Given the description of an element on the screen output the (x, y) to click on. 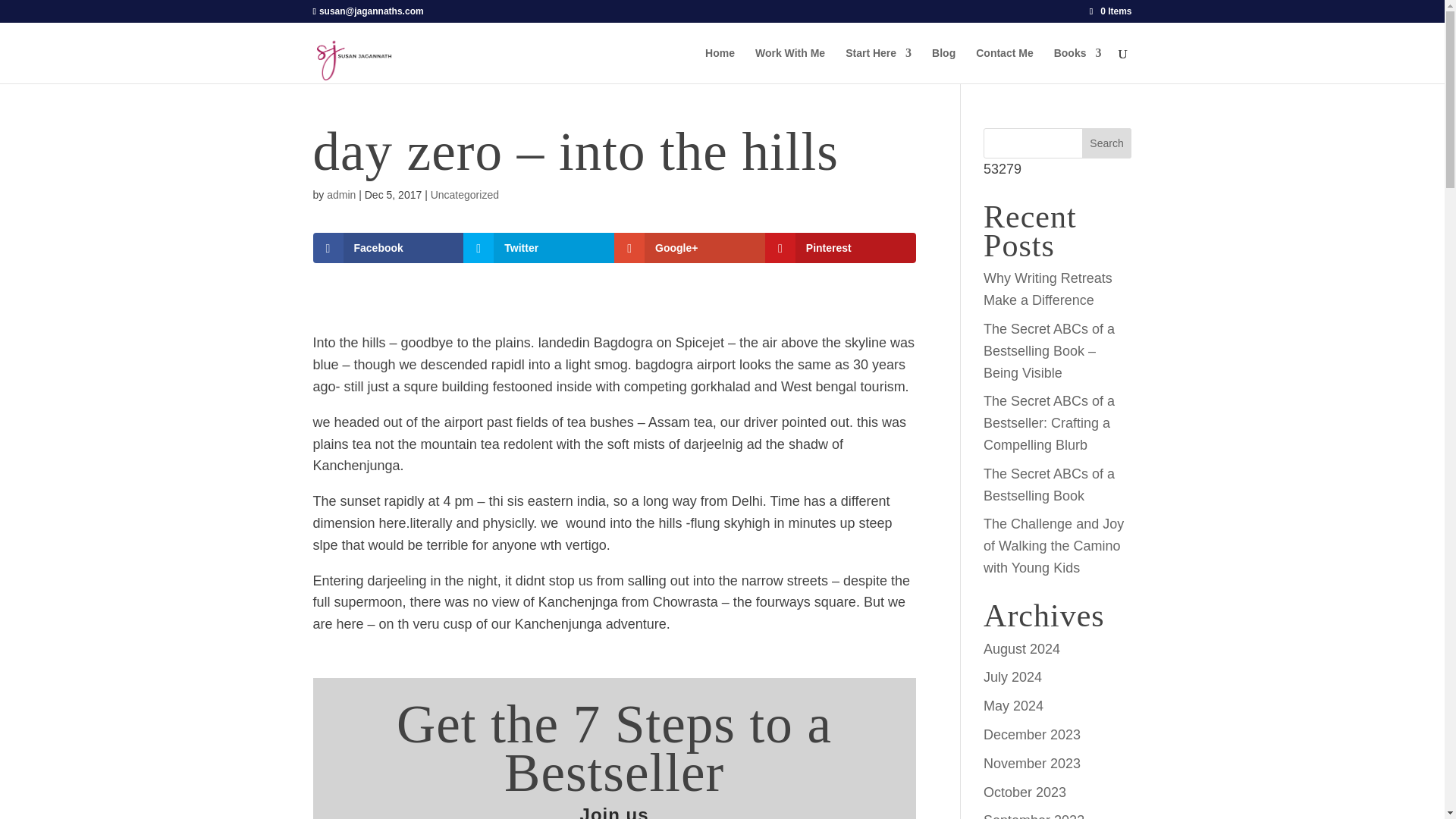
Posts by admin (340, 194)
The Secret ABCs of a Bestselling Book (1049, 484)
Search (1106, 142)
Uncategorized (464, 194)
Books (1078, 65)
Twitter (538, 247)
Facebook (388, 247)
The Secret ABCs of a Bestseller: Crafting a Compelling Blurb (1049, 422)
Search (1106, 142)
Contact Me (1003, 65)
